Given the description of an element on the screen output the (x, y) to click on. 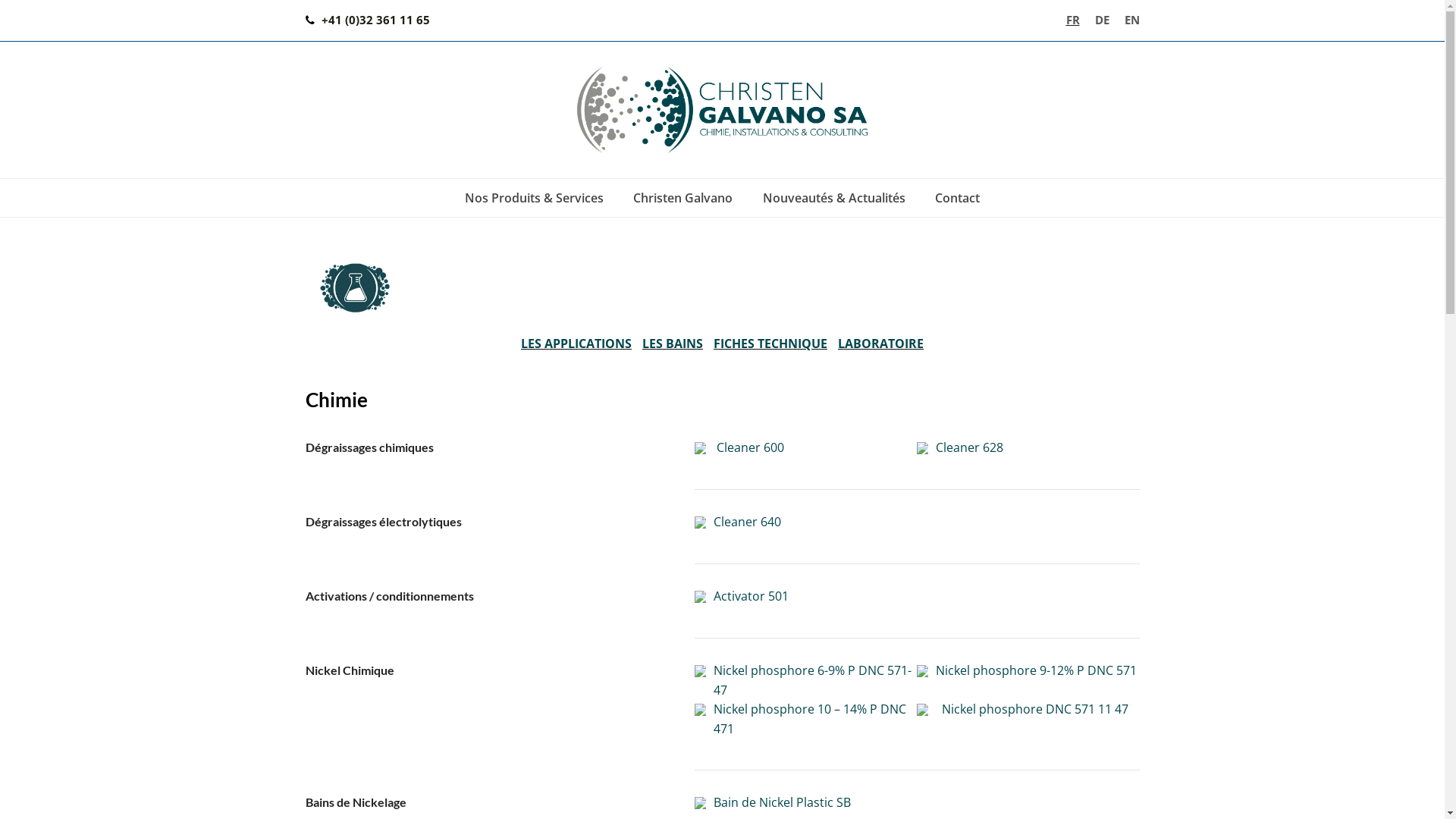
Nickel phosphore 6-9% P DNC 571-47 Element type: text (812, 680)
Activator 501 Element type: text (750, 595)
Nos Produits & Services Element type: text (534, 197)
Christen Galvano Element type: text (682, 197)
Cleaner 600 Element type: text (750, 447)
Contact Element type: text (958, 197)
DE Element type: text (1102, 19)
Nickel phosphore DNC 571 11 47 Element type: text (1034, 708)
LES APPLICATIONS Element type: text (575, 343)
EN Element type: text (1131, 19)
FICHES TECHNIQUE Element type: text (770, 343)
Bain de Nickel Plastic SB Element type: text (781, 801)
Cleaner 628 Element type: text (969, 447)
FR Element type: text (1072, 19)
LES BAINS Element type: text (672, 343)
LABORATOIRE Element type: text (880, 343)
Nickel phosphore 9-12% P DNC 571 Element type: text (1035, 670)
Christen Galvano SA Element type: hover (721, 109)
Cleaner 640 Element type: text (747, 521)
